Given the description of an element on the screen output the (x, y) to click on. 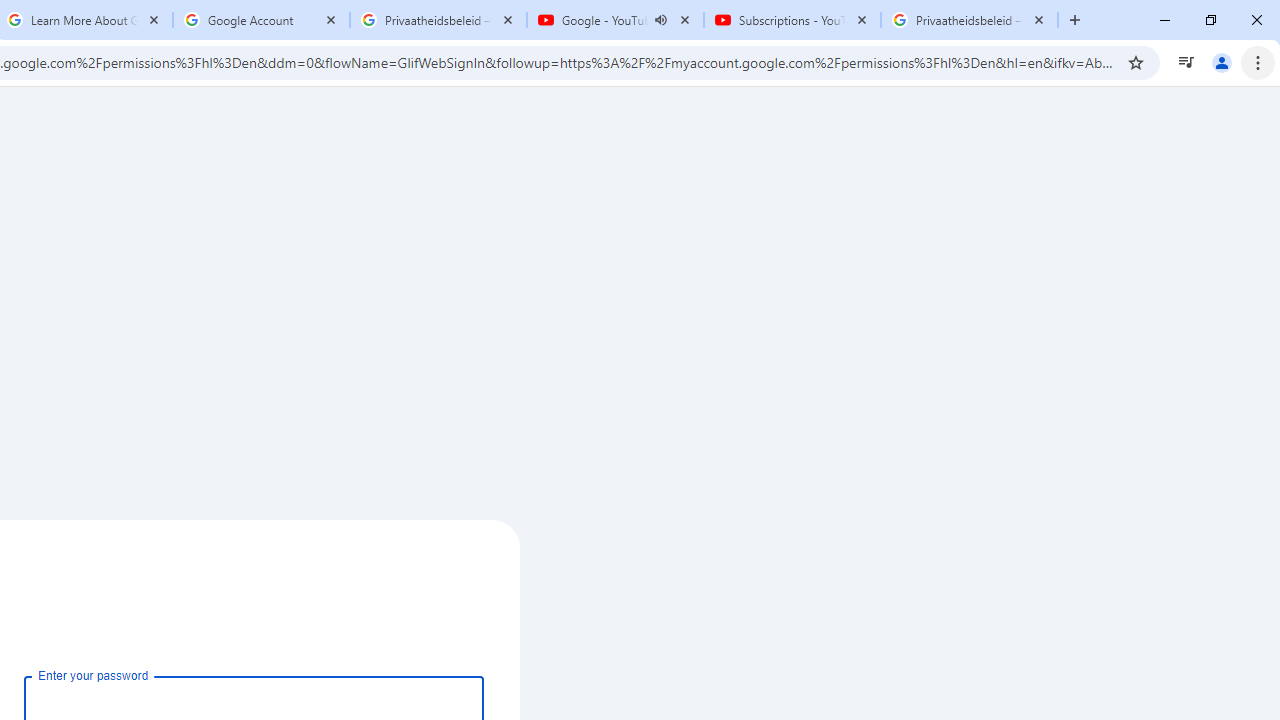
Mute tab (660, 20)
Subscriptions - YouTube (792, 20)
Google - YouTube - Audio playing (615, 20)
Google Account (260, 20)
